Given the description of an element on the screen output the (x, y) to click on. 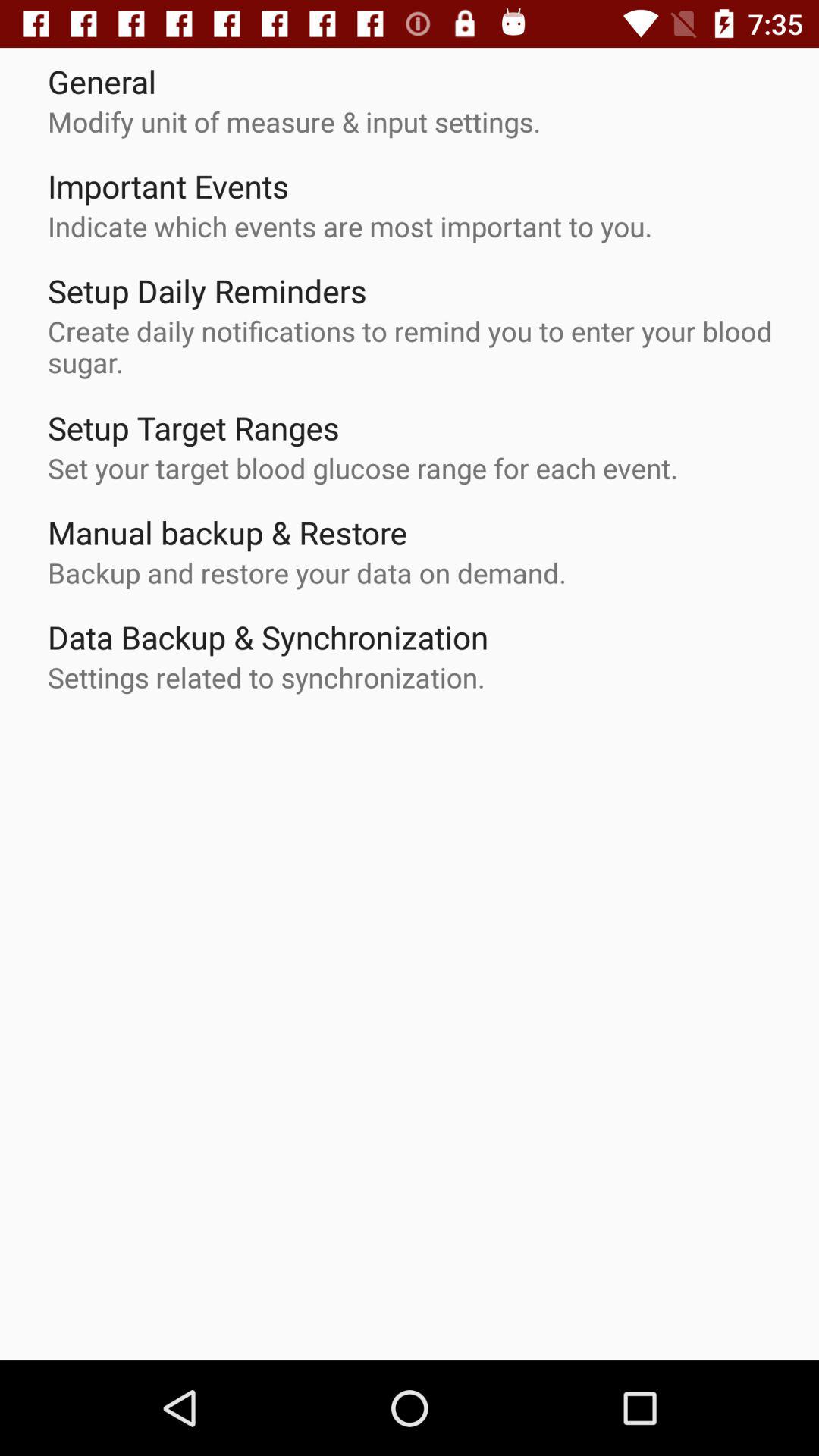
press settings related to (266, 677)
